Given the description of an element on the screen output the (x, y) to click on. 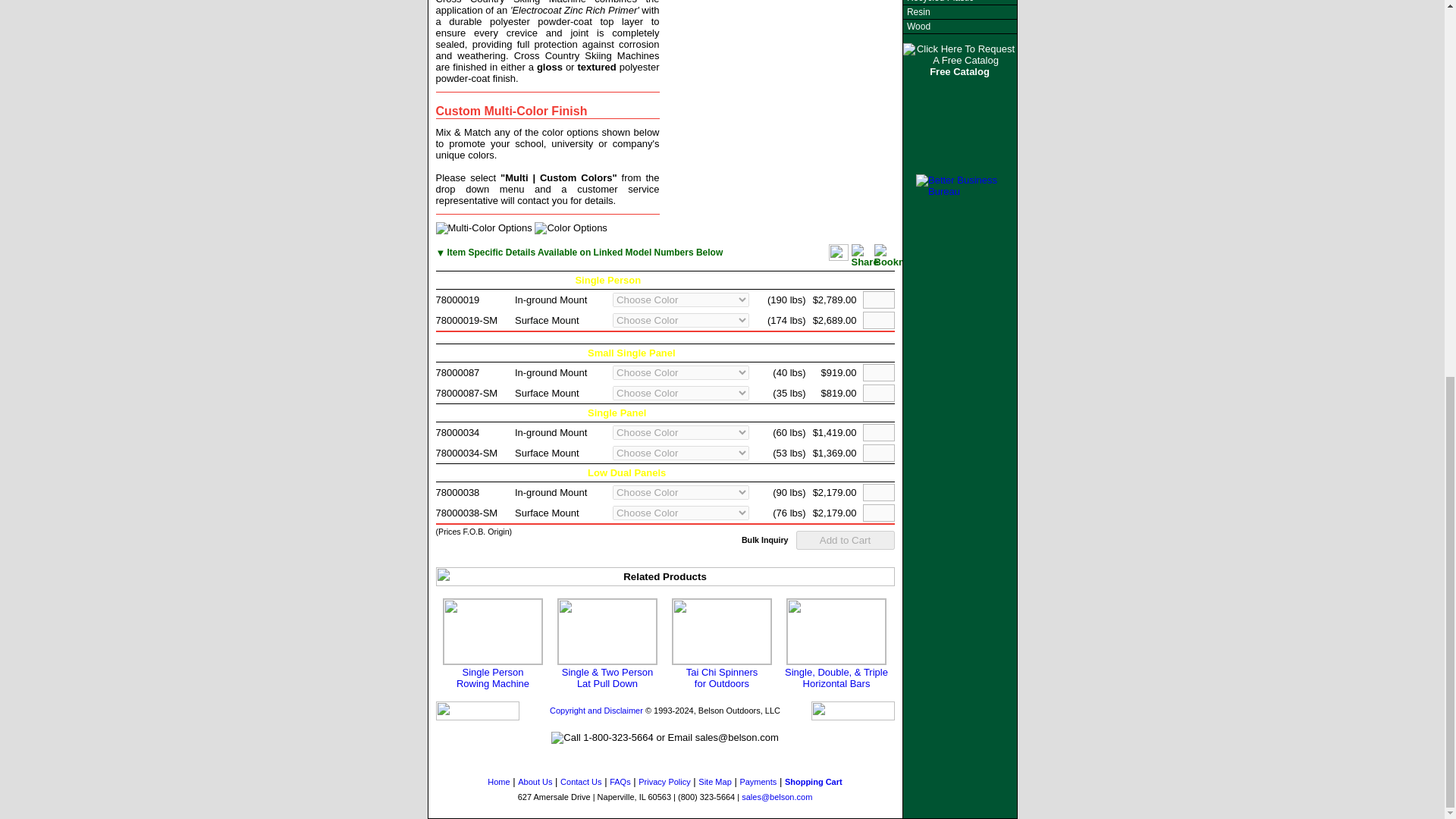
78000019 (457, 299)
Add to Cart (845, 539)
Copyright and Disclaimer (596, 709)
78000038 (457, 491)
Related Products (664, 576)
78000034 (457, 432)
Add to Cart (492, 643)
Share (845, 539)
Bulk Inquiry (863, 255)
78000087 (765, 539)
Bookmark (720, 643)
78000019-SM (457, 372)
Ask An Expert (900, 255)
